Given the description of an element on the screen output the (x, y) to click on. 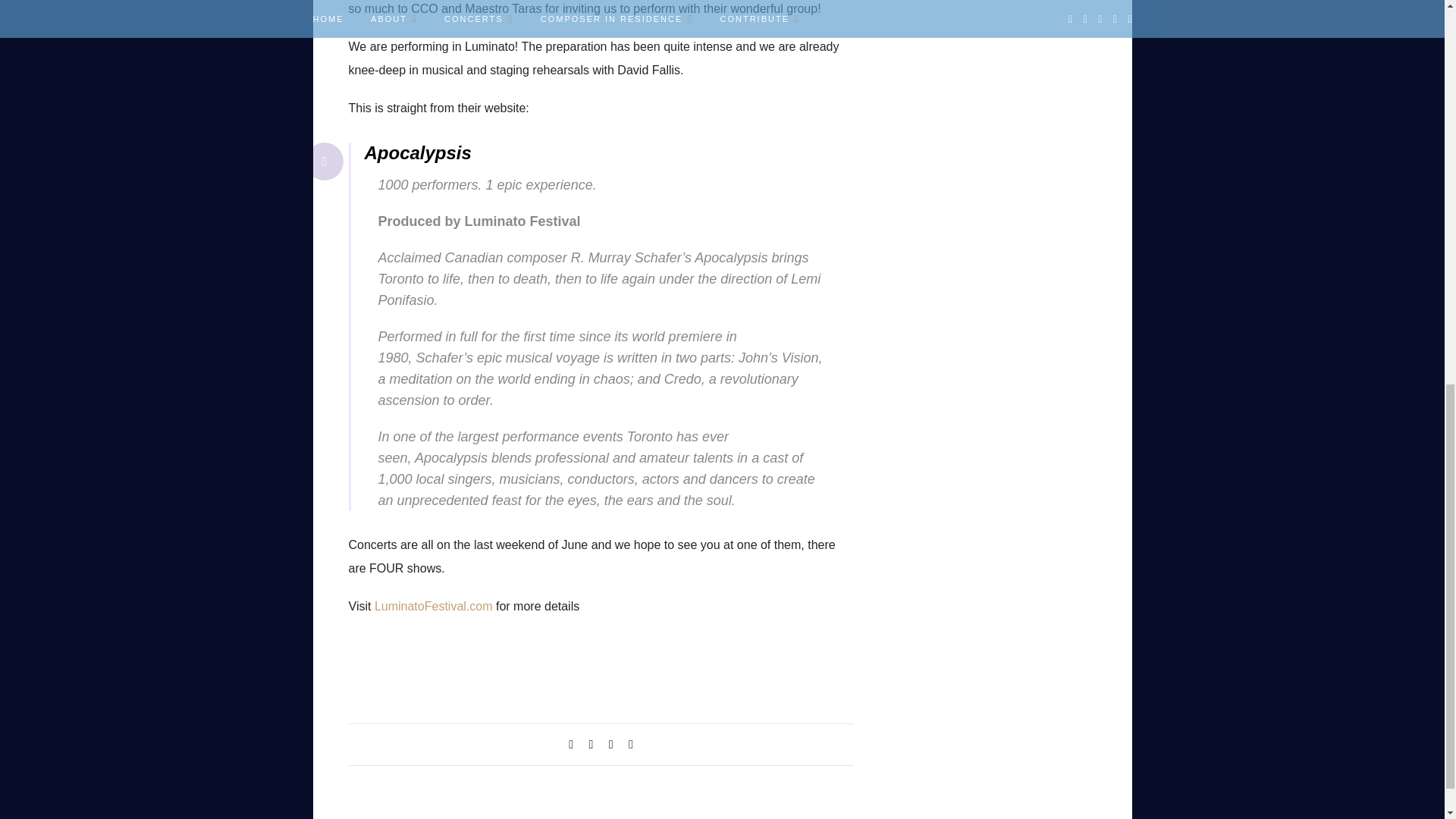
LuminatoFestival.com (433, 605)
